Given the description of an element on the screen output the (x, y) to click on. 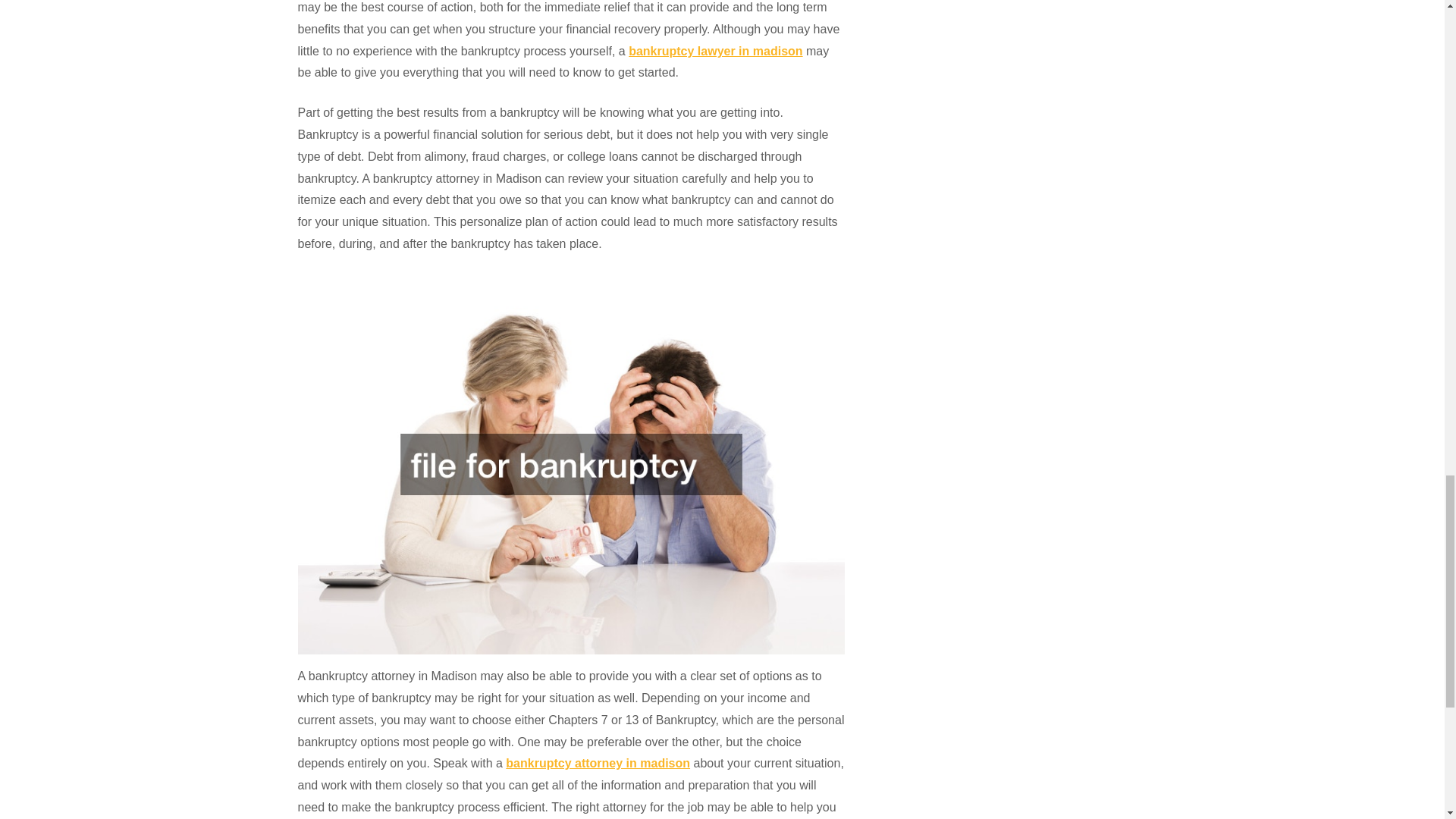
Get more related to Bankruptcy lawyer in madison (715, 51)
bankruptcy lawyer in madison (715, 51)
Bankruptcy lawyer in madison, Bankruptcy lawyer in madison (597, 762)
bankruptcy attorney in madison (597, 762)
